Given the description of an element on the screen output the (x, y) to click on. 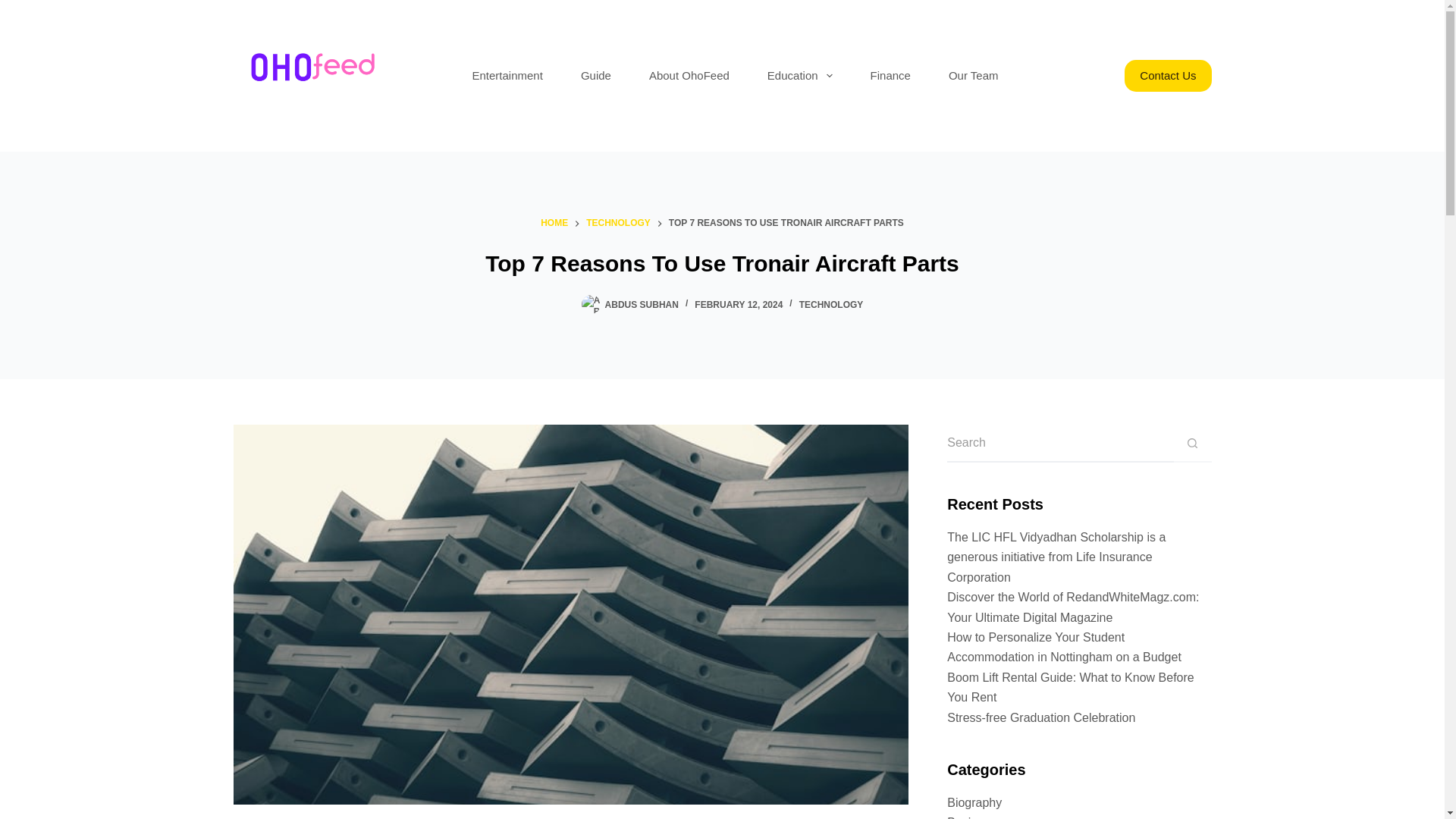
Guide (596, 75)
ABDUS SUBHAN (641, 304)
Skip to content (15, 7)
Finance (890, 75)
Our Team (973, 75)
Search for... (1060, 443)
Top 7 Reasons To Use Tronair Aircraft Parts (722, 263)
Education (799, 75)
Posts by Abdus Subhan (641, 304)
About OhoFeed (689, 75)
